Given the description of an element on the screen output the (x, y) to click on. 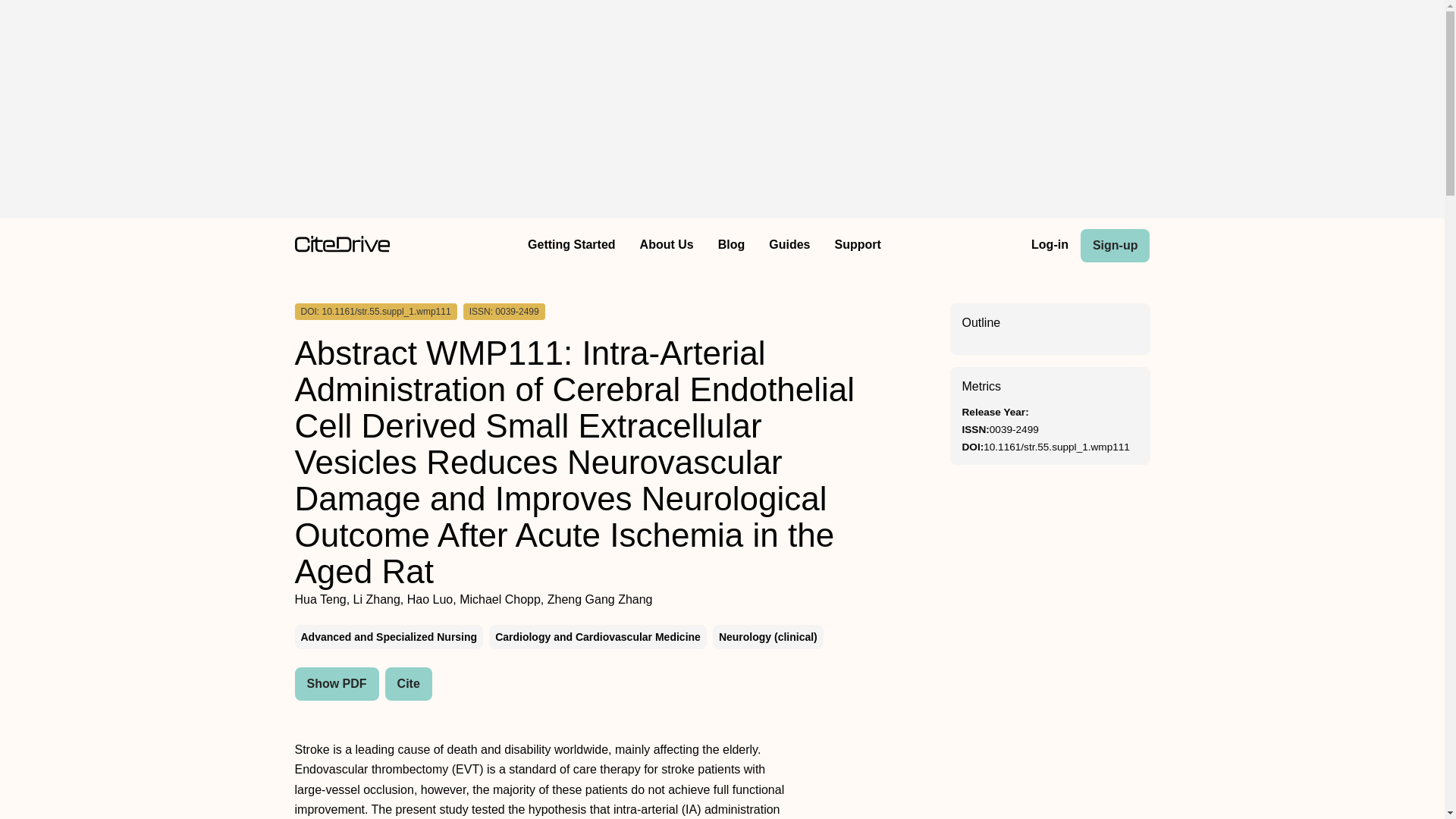
Cite (408, 684)
Show PDF (336, 684)
Log-in (1049, 245)
Blog (731, 245)
Support (857, 245)
Sign-up (1115, 245)
Getting Started (571, 245)
About Us (666, 245)
Guides (789, 245)
